Given the description of an element on the screen output the (x, y) to click on. 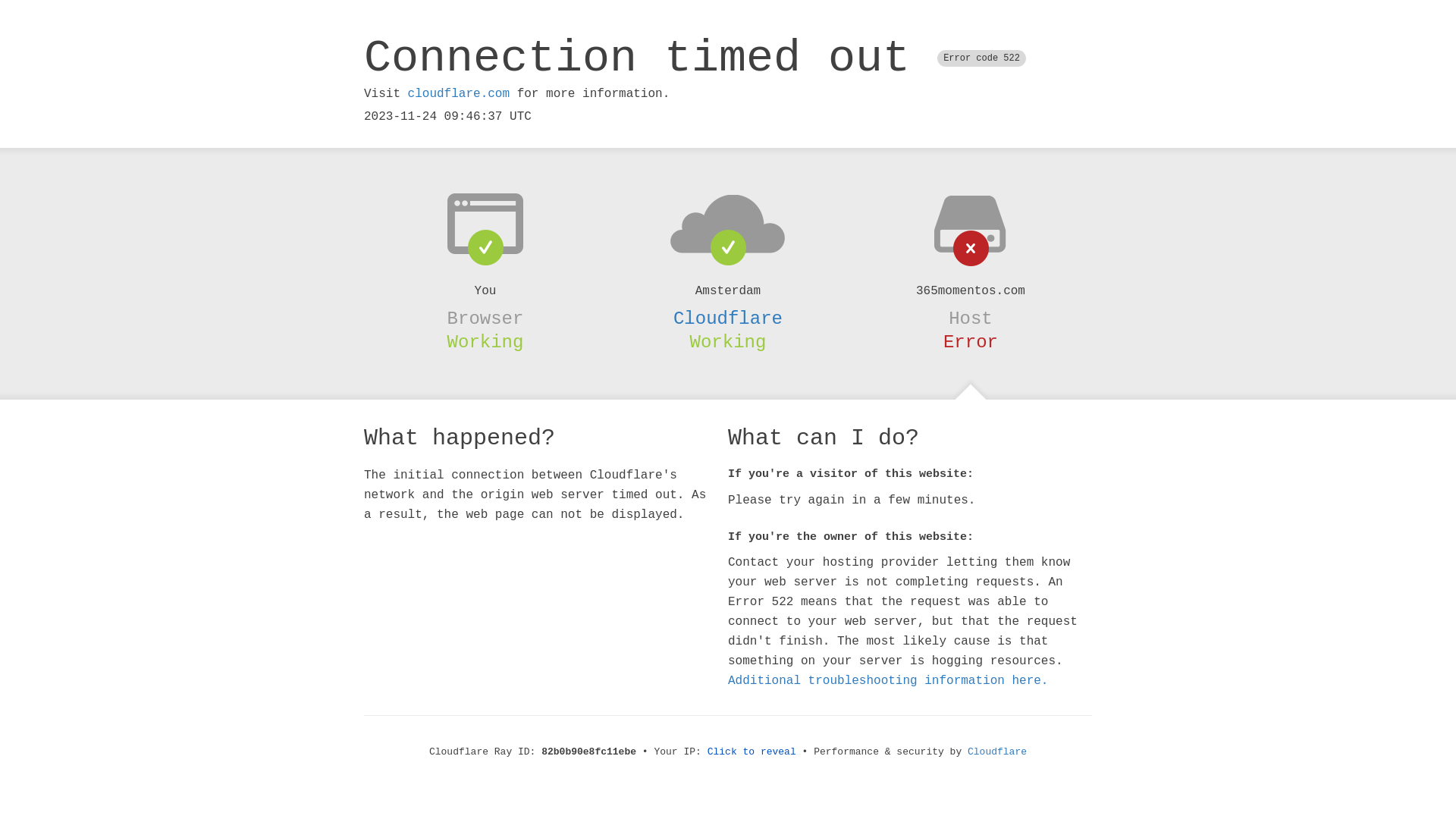
Cloudflare Element type: text (996, 751)
Click to reveal Element type: text (751, 751)
Cloudflare Element type: text (727, 318)
Additional troubleshooting information here. Element type: text (888, 680)
cloudflare.com Element type: text (458, 93)
